Given the description of an element on the screen output the (x, y) to click on. 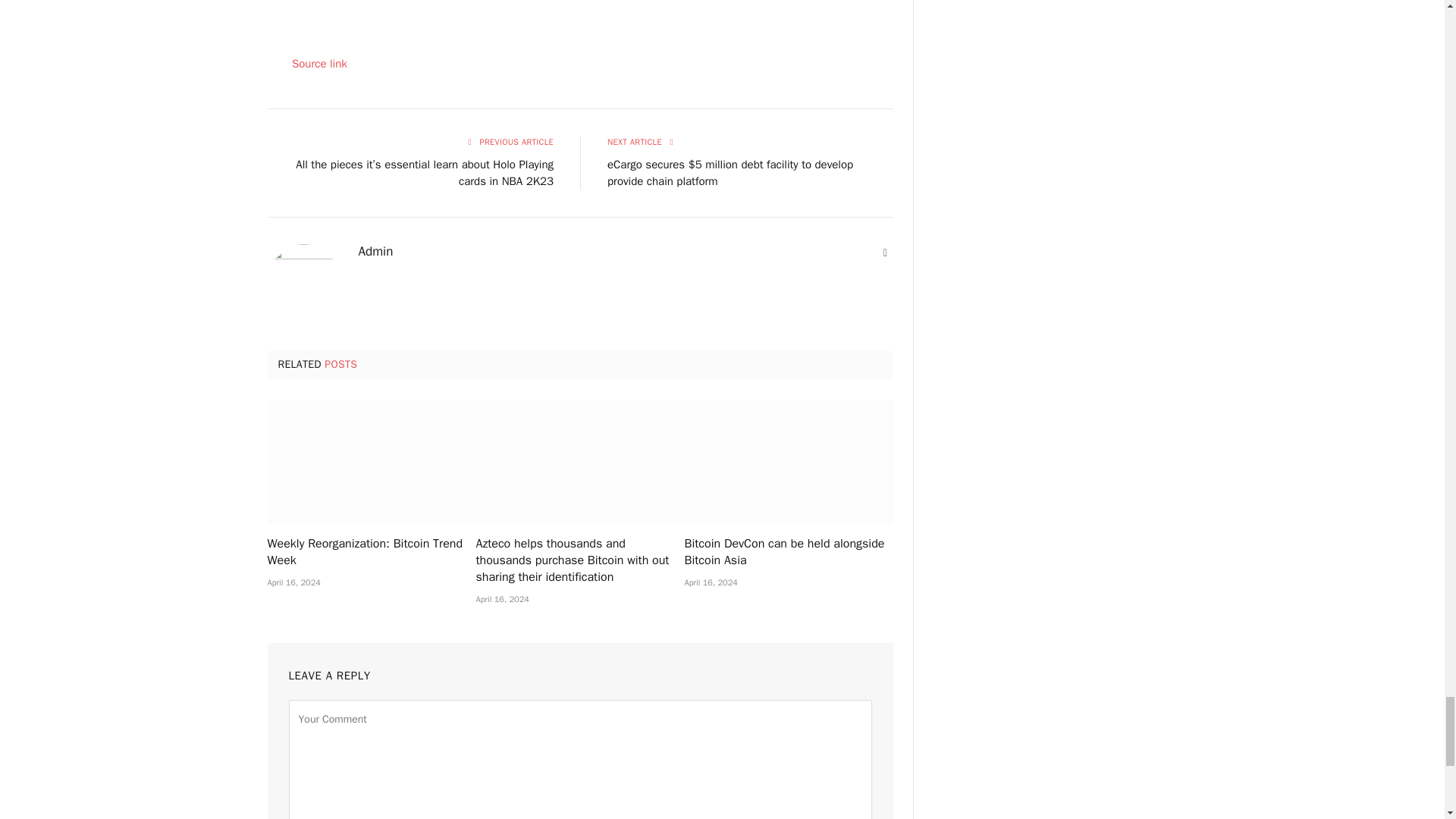
Source link (319, 63)
Website (885, 253)
Weekly Reorganization: Bitcoin Trend Week (371, 552)
Website (885, 253)
Admin (375, 251)
Posts by Admin (375, 251)
Bitcoin DevCon can be held alongside Bitcoin Asia (788, 462)
Weekly Reorganization: Bitcoin Trend Week (371, 462)
